Given the description of an element on the screen output the (x, y) to click on. 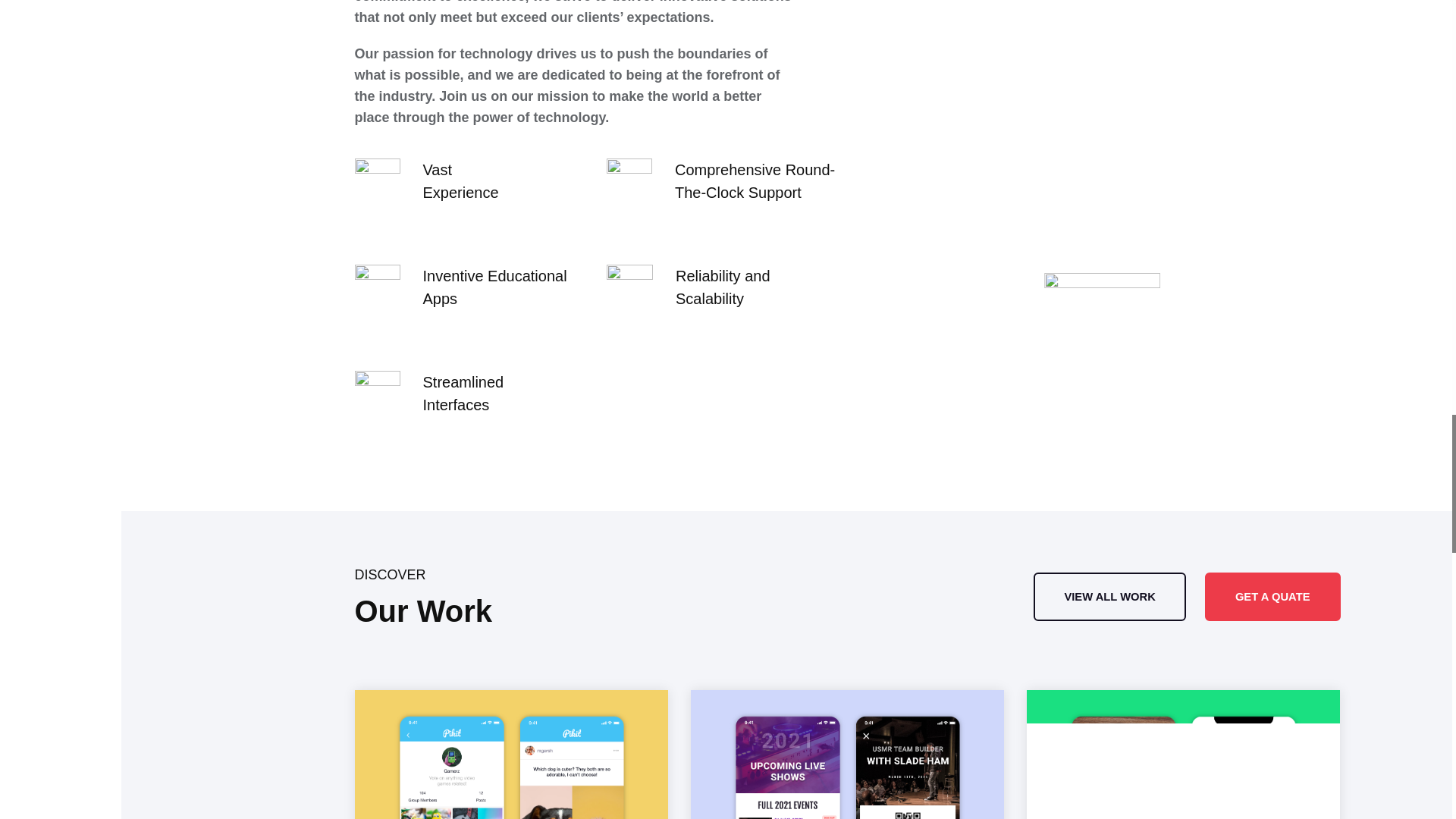
GET A QUATE (1272, 596)
VIEW ALL WORK (1109, 596)
Contact Us (1272, 596)
Our Works (1109, 596)
